Given the description of an element on the screen output the (x, y) to click on. 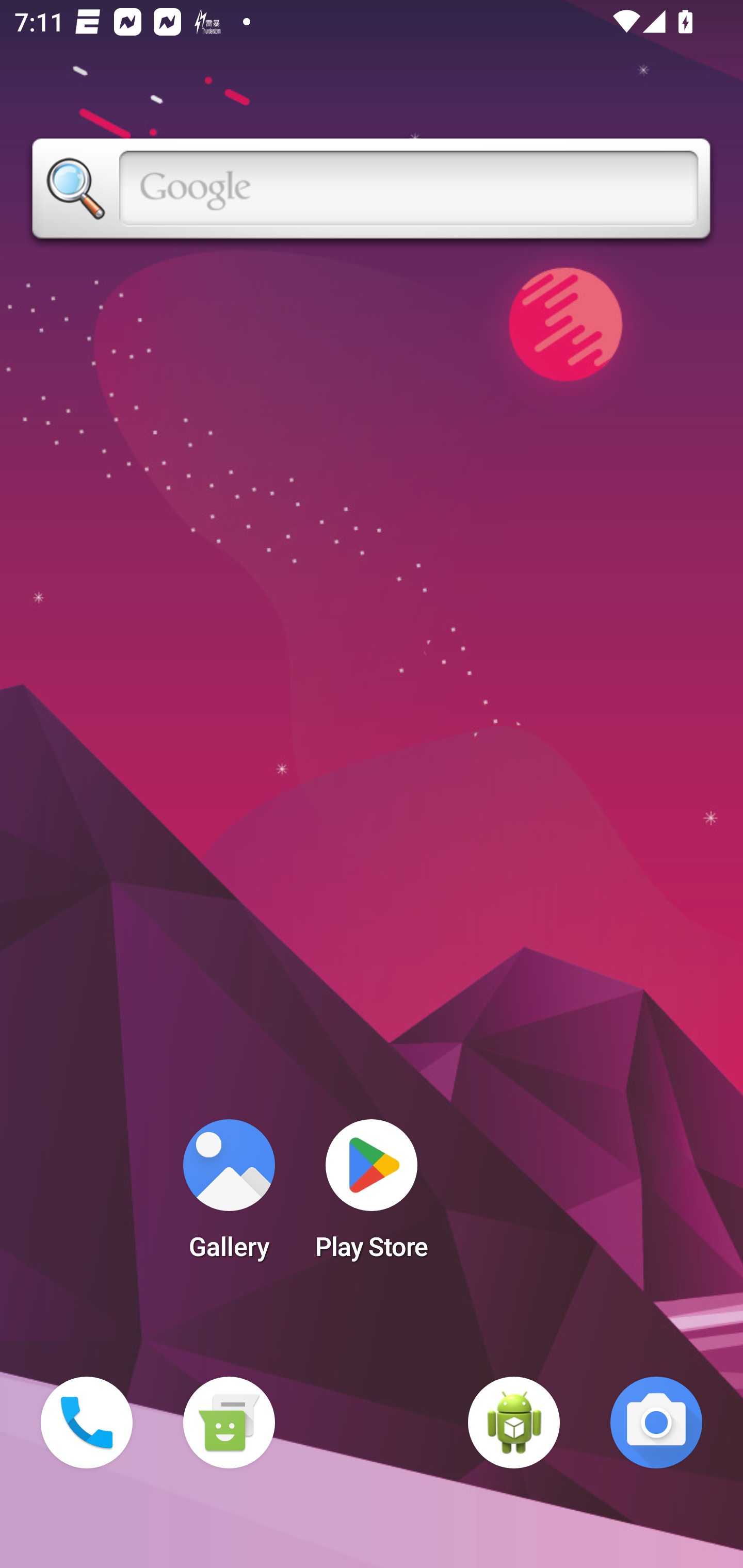
Gallery (228, 1195)
Play Store (371, 1195)
Phone (86, 1422)
Messaging (228, 1422)
WebView Browser Tester (513, 1422)
Camera (656, 1422)
